Given the description of an element on the screen output the (x, y) to click on. 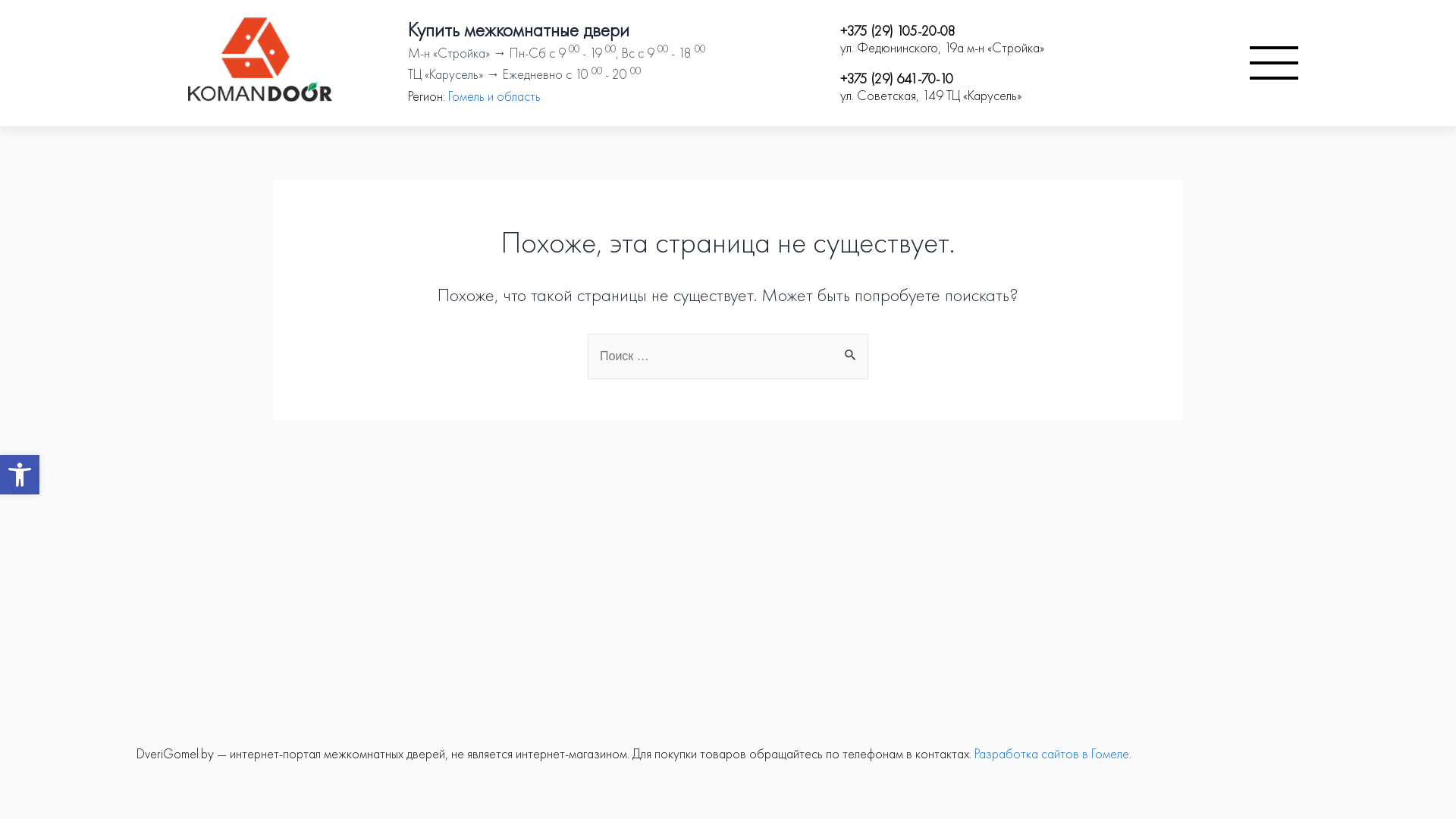
+375 (29) 105-20-08 Element type: text (897, 30)
+375 (29) 641-70-10 Element type: text (896, 78)
